Given the description of an element on the screen output the (x, y) to click on. 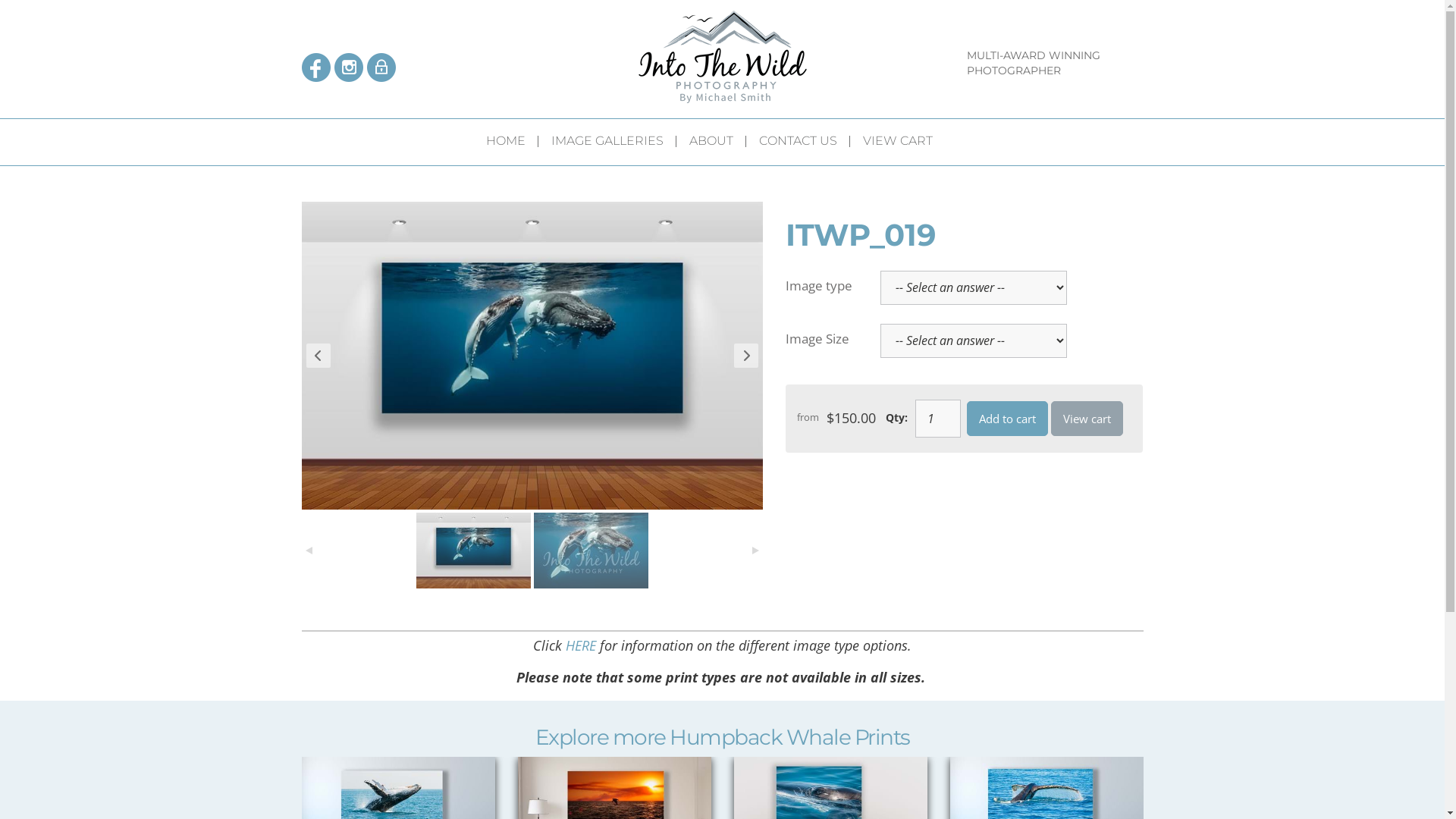
HERE Element type: text (580, 645)
HOME Element type: text (512, 142)
Add to cart Element type: text (1007, 418)
IMAGE GALLERIES Element type: text (613, 142)
CONTACT US Element type: text (804, 142)
ABOUT Element type: text (717, 142)
VIEW CART Element type: text (903, 142)
View cart Element type: text (1087, 418)
